Given the description of an element on the screen output the (x, y) to click on. 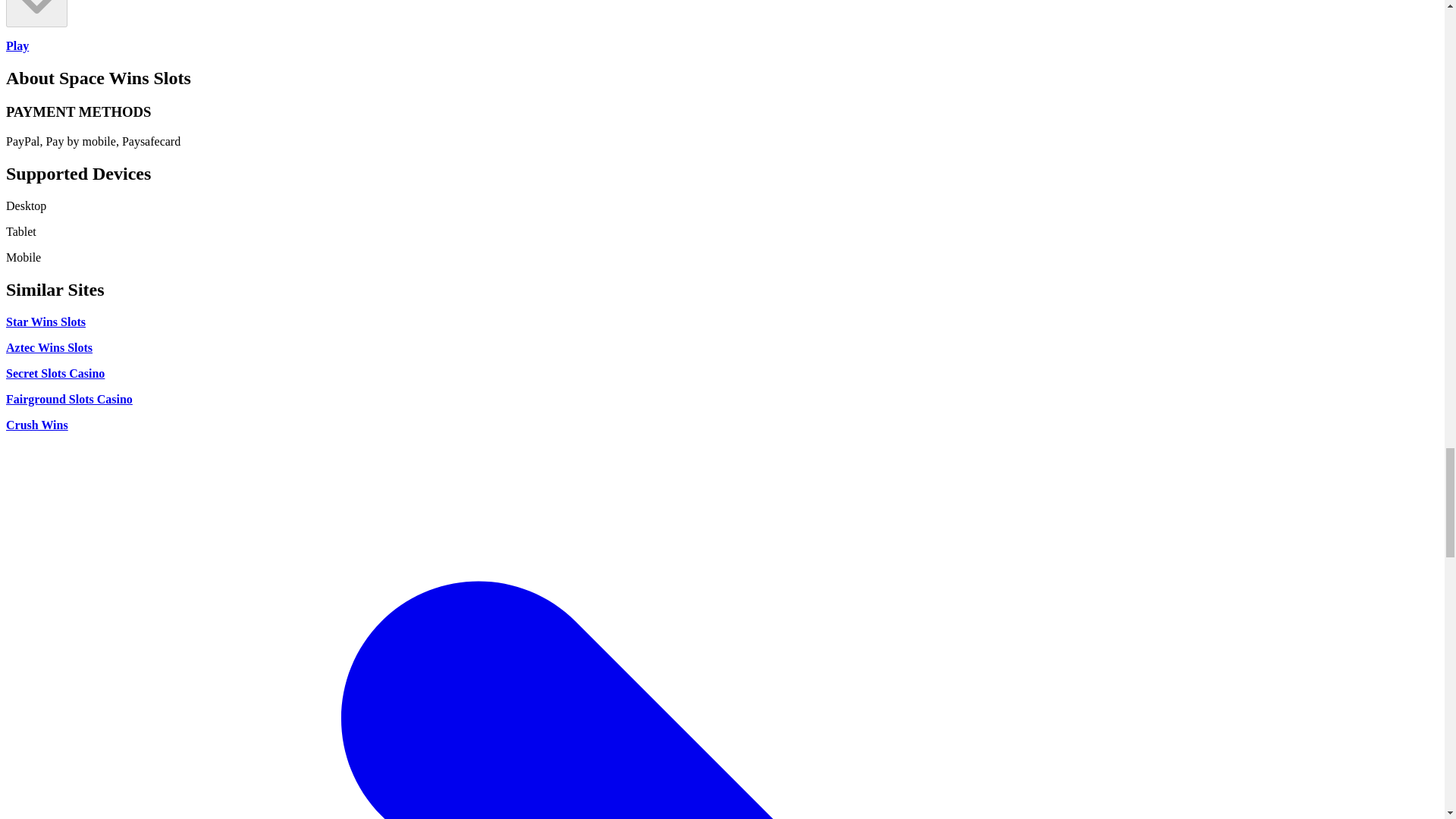
Fairground Slots Casino (68, 399)
Crush Wins (36, 424)
Play (17, 45)
Star Wins Slots (45, 321)
Aztec Wins Slots (49, 347)
show more (35, 13)
Secret Slots Casino (54, 373)
